Given the description of an element on the screen output the (x, y) to click on. 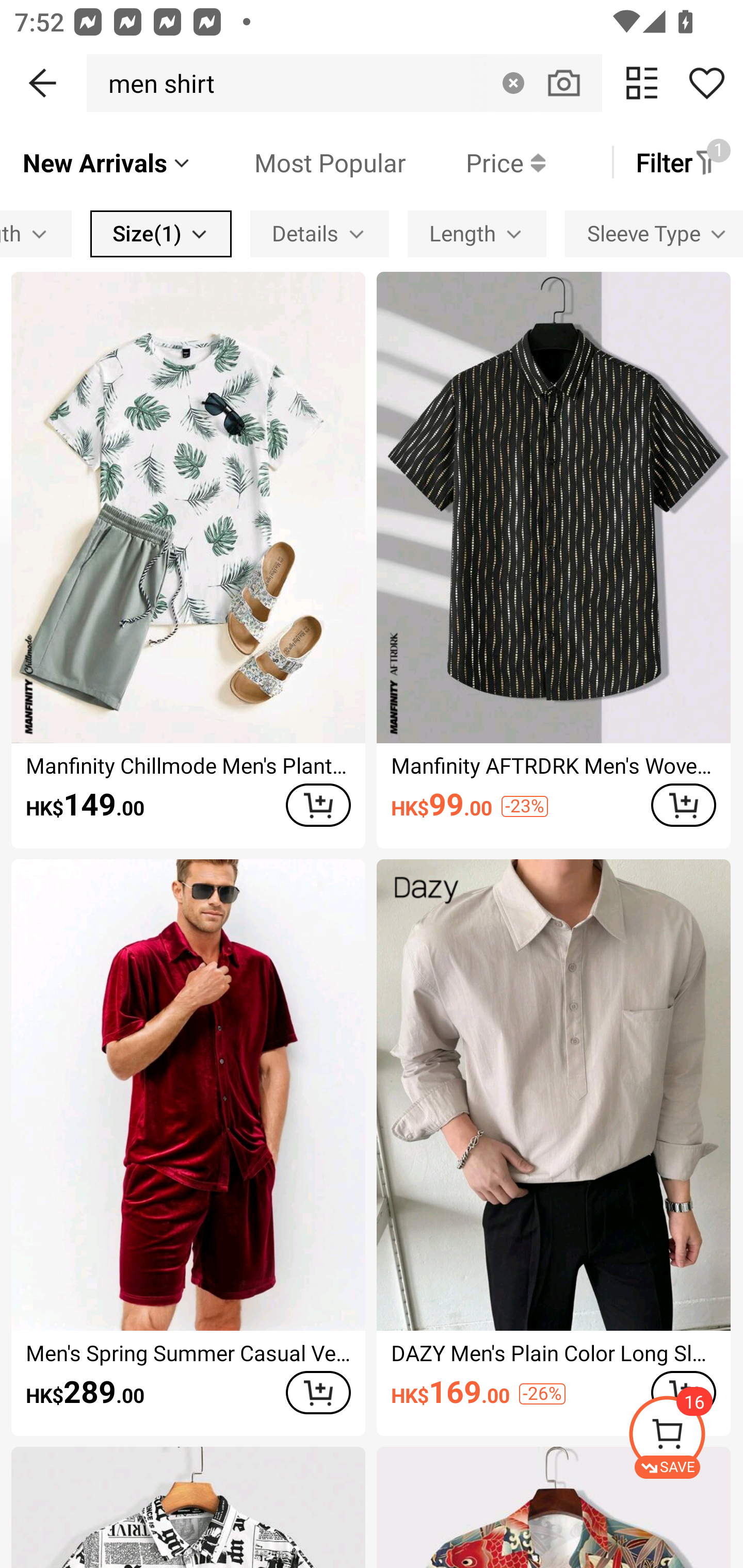
men shirt Clear (343, 82)
men shirt (155, 82)
Clear (513, 82)
change view (641, 82)
Share (706, 82)
New Arrivals (107, 162)
Most Popular (299, 162)
Price (475, 162)
Filter 1 (677, 162)
Size(1) (160, 233)
Details (319, 233)
Length (476, 233)
Sleeve Type (653, 233)
ADD TO CART (318, 805)
ADD TO CART (683, 805)
ADD TO CART (318, 1392)
SAVE (685, 1436)
